Given the description of an element on the screen output the (x, y) to click on. 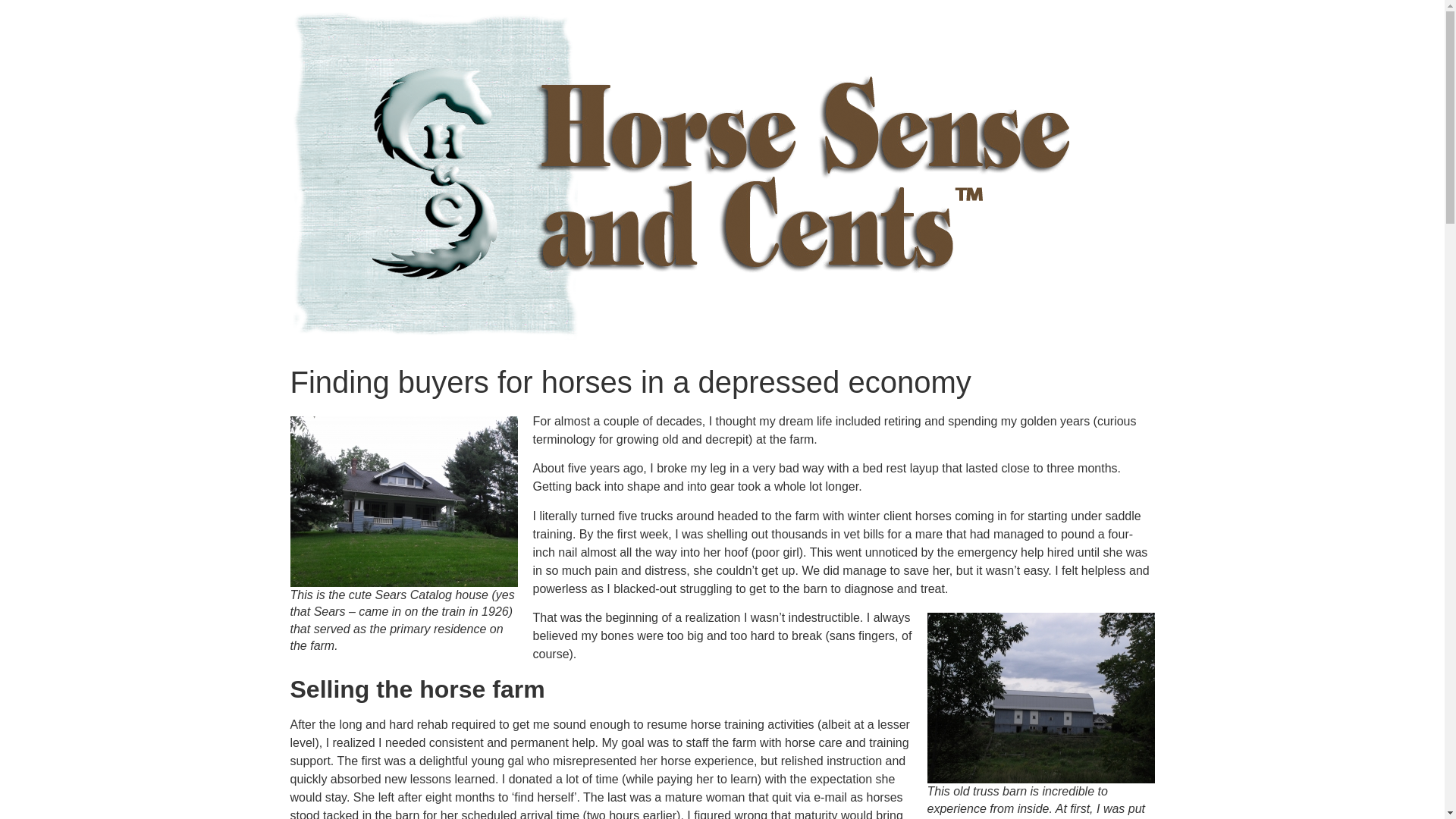
Potter Homestead (402, 501)
truss barn (1040, 697)
